Given the description of an element on the screen output the (x, y) to click on. 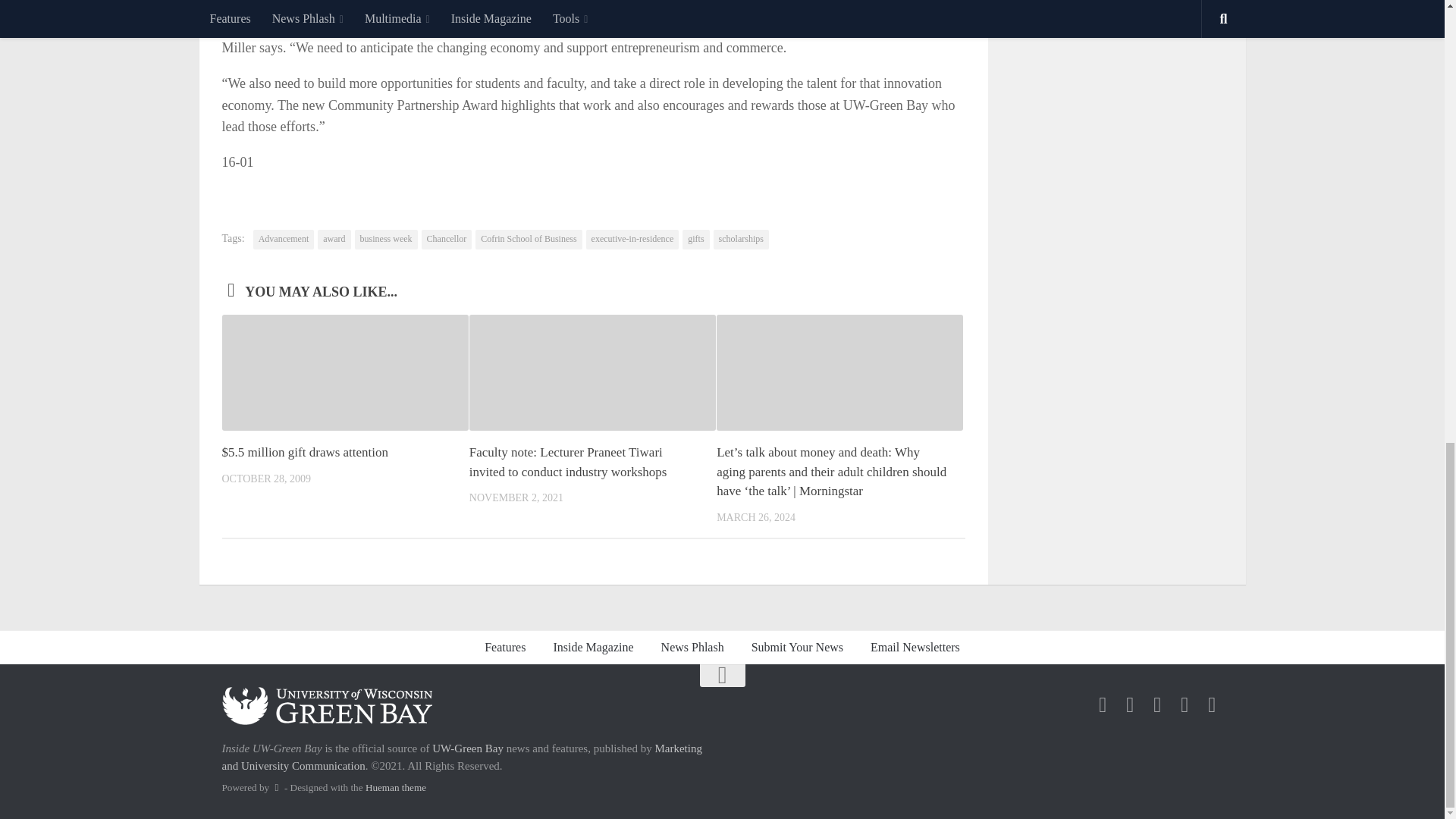
Cofrin School of Business (528, 239)
scholarships (740, 239)
award (333, 239)
business week (386, 239)
Chancellor (446, 239)
executive-in-residence (632, 239)
gifts (695, 239)
Advancement (283, 239)
